Given the description of an element on the screen output the (x, y) to click on. 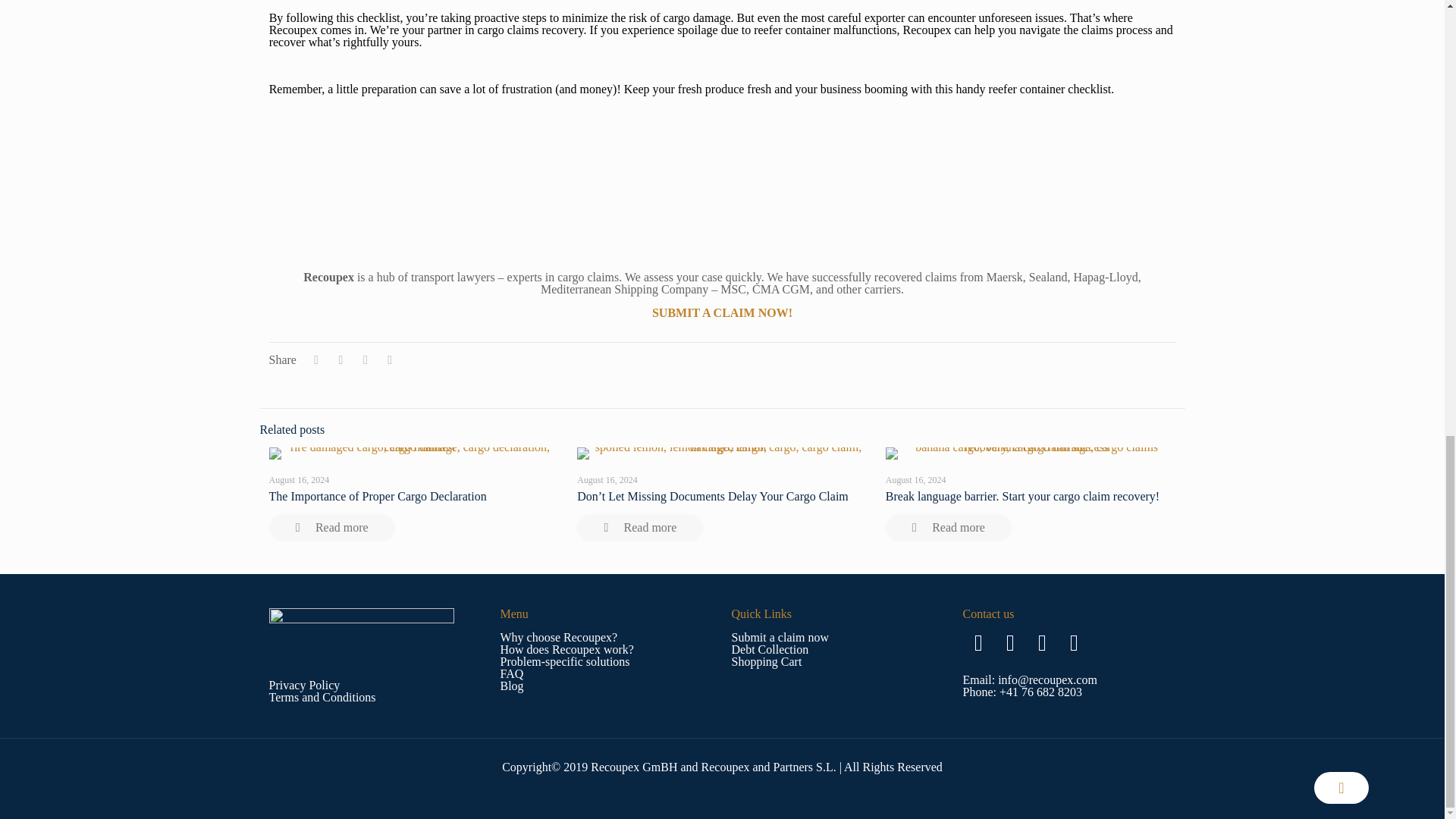
Read more (330, 527)
Break language barrier. Start your cargo claim recovery! (1021, 495)
YouTube (1074, 642)
SUBMIT A CLAIM NOW! (722, 312)
Terms and Conditions (321, 697)
The Importance of Proper Cargo Declaration (376, 495)
Read more (948, 527)
Instagram (1010, 642)
Linkedin (1042, 642)
Read more (639, 527)
